Given the description of an element on the screen output the (x, y) to click on. 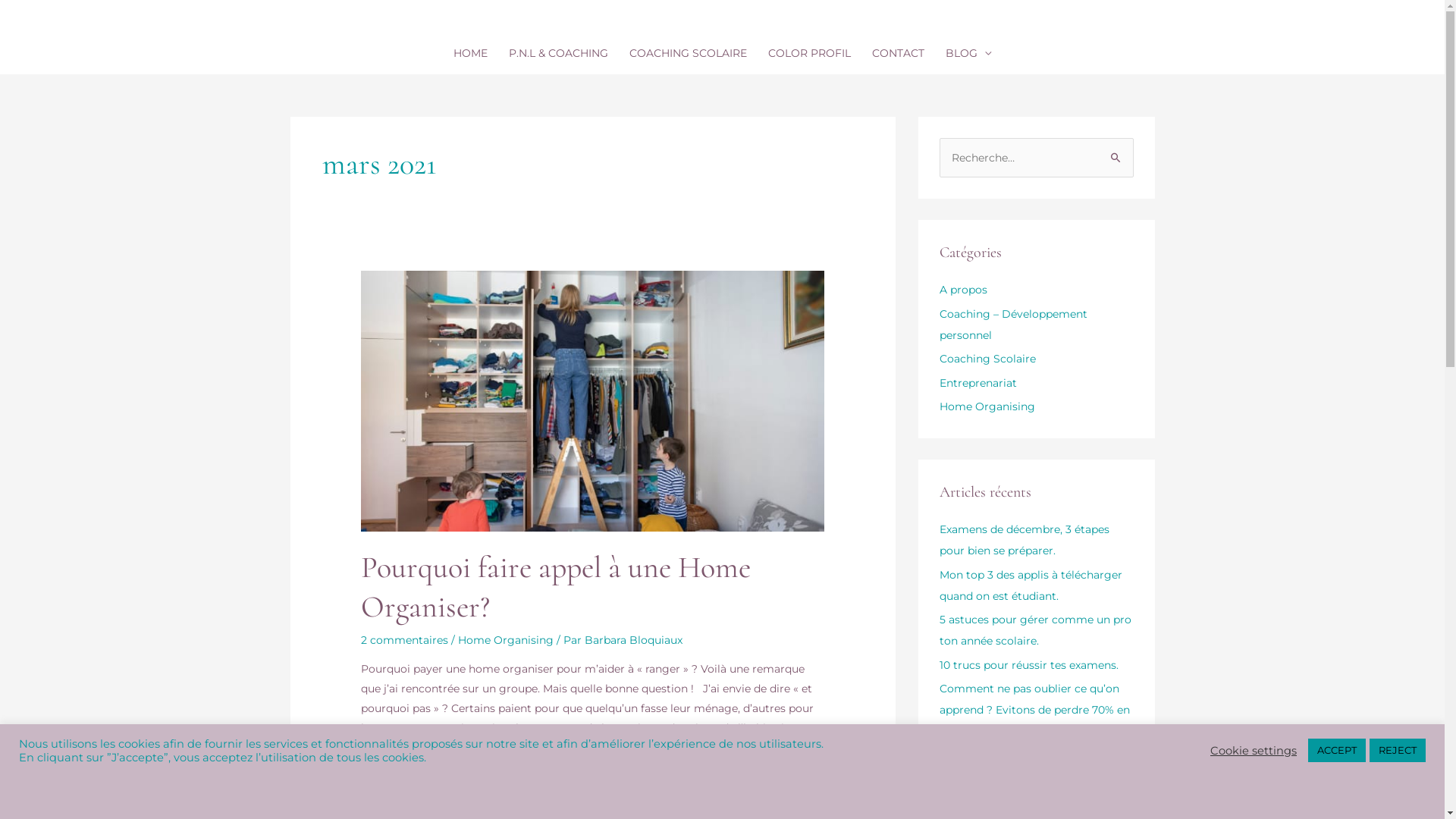
REJECT Element type: text (1397, 750)
Cookie settings Element type: text (1253, 750)
Rechercher Element type: text (1116, 153)
A propos Element type: text (962, 289)
CONTACT Element type: text (898, 52)
ACCEPT Element type: text (1336, 750)
Coaching Scolaire Element type: text (986, 358)
Barbara Bloquiaux Element type: text (633, 639)
Home Organising Element type: text (986, 406)
2 commentaires Element type: text (404, 639)
COACHING SCOLAIRE Element type: text (687, 52)
Entreprenariat Element type: text (977, 382)
BLOG Element type: text (968, 52)
COLOR PROFIL Element type: text (809, 52)
P.N.L & COACHING Element type: text (558, 52)
Home Organising Element type: text (505, 639)
HOME Element type: text (470, 52)
